Given the description of an element on the screen output the (x, y) to click on. 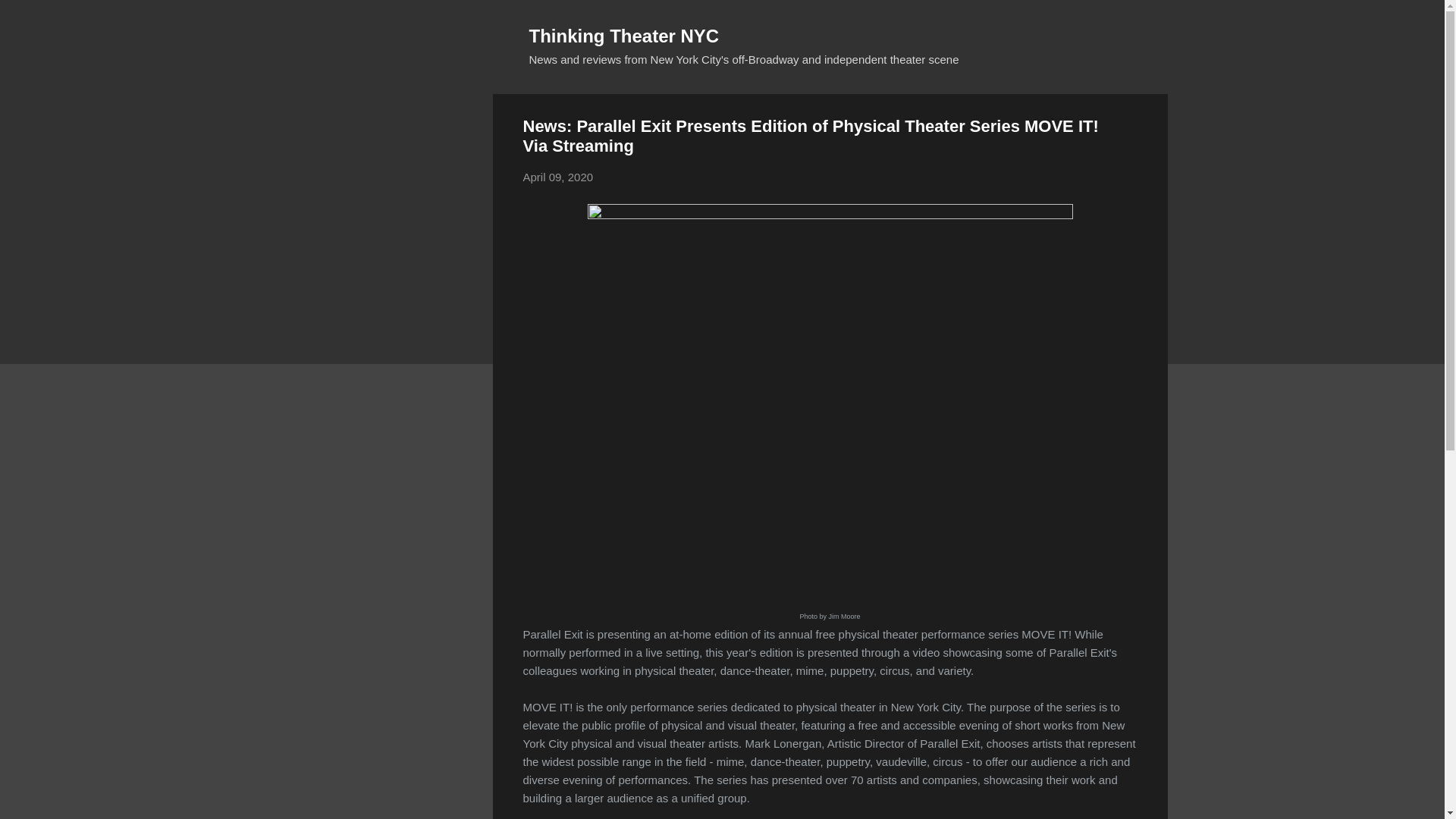
Search (29, 18)
Thinking Theater NYC (624, 35)
permanent link (558, 176)
April 09, 2020 (558, 176)
